Given the description of an element on the screen output the (x, y) to click on. 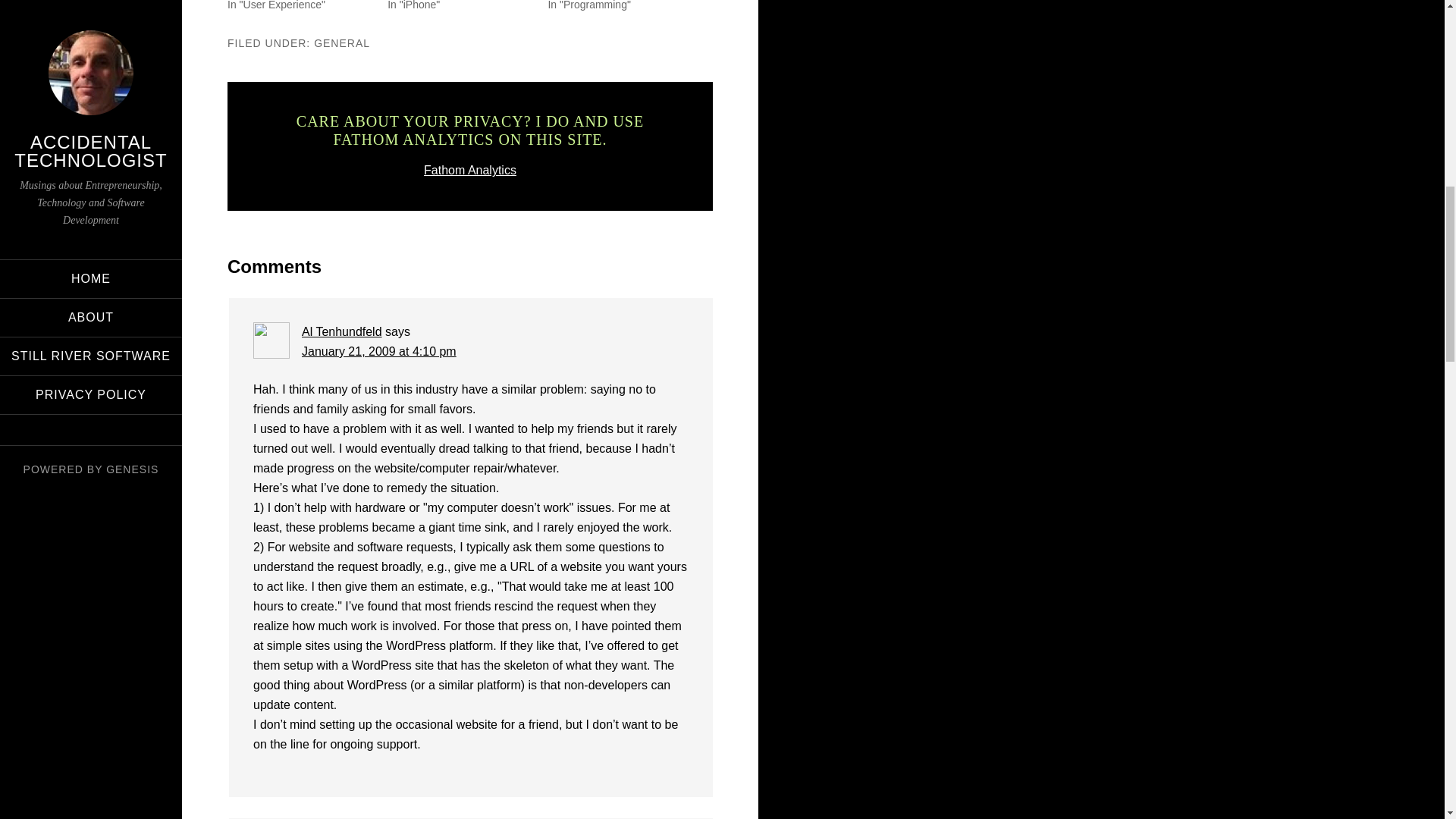
Al Tenhundfeld (341, 331)
GENERAL (341, 42)
January 21, 2009 at 4:10 pm (379, 350)
Fathom Analytics (469, 169)
